Given the description of an element on the screen output the (x, y) to click on. 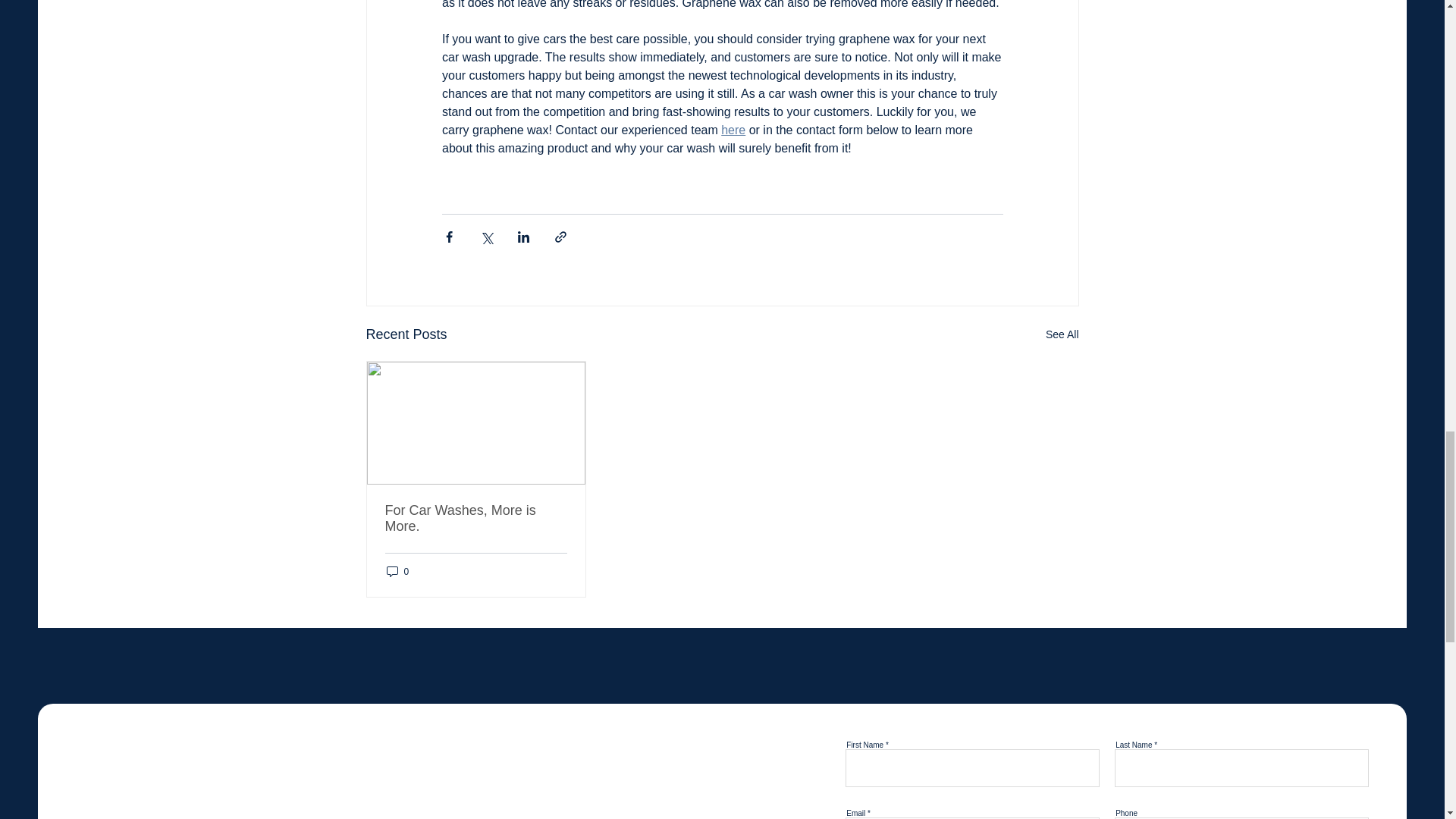
here (732, 129)
See All (1061, 334)
0 (397, 571)
For Car Washes, More is More. (476, 518)
